Given the description of an element on the screen output the (x, y) to click on. 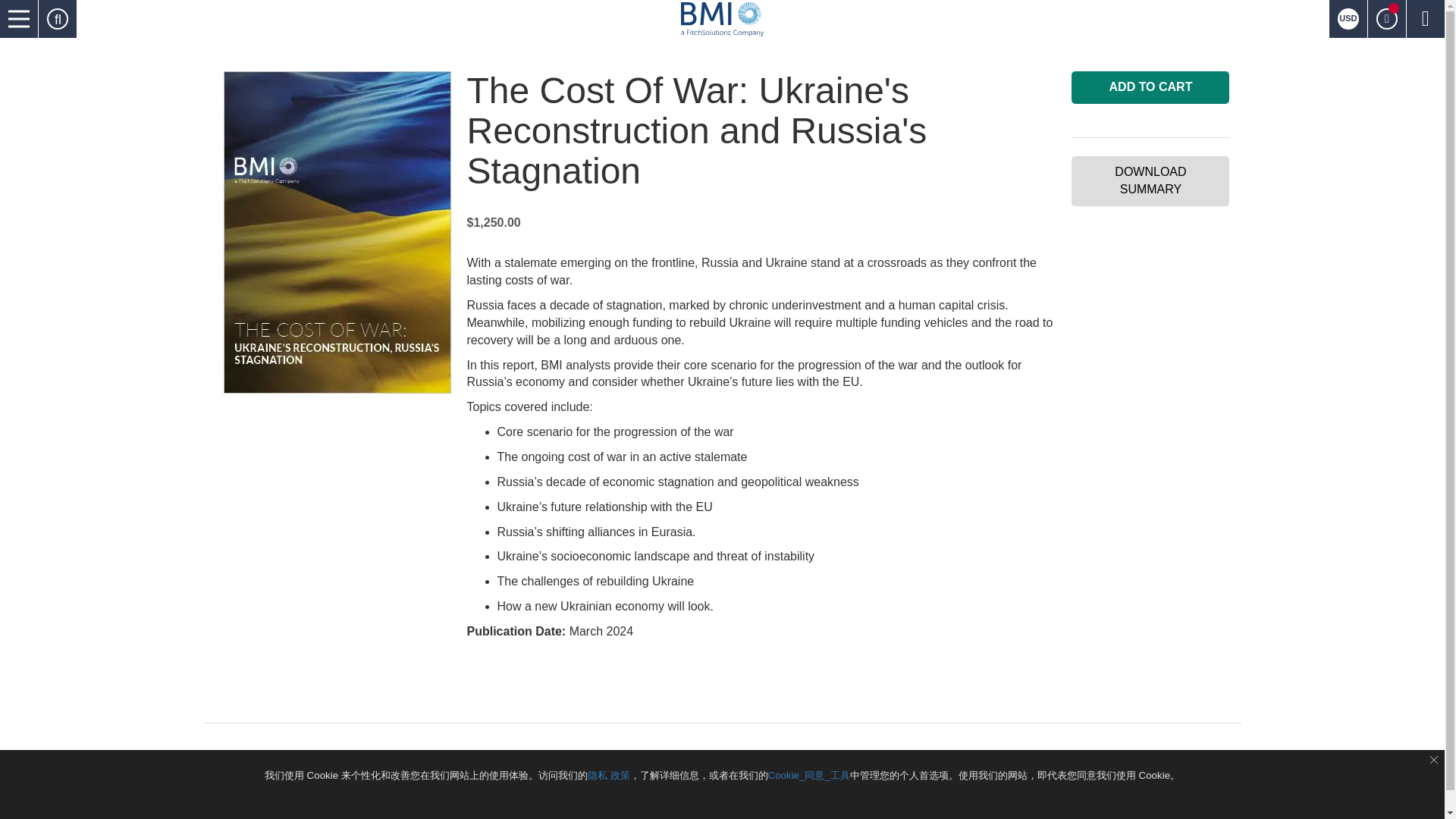
Add to Cart (1149, 87)
